Given the description of an element on the screen output the (x, y) to click on. 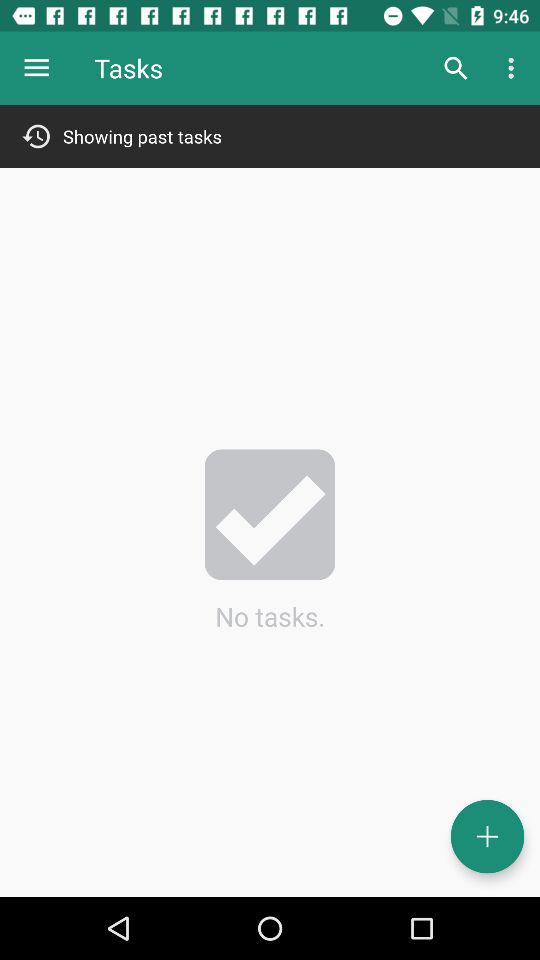
new task button (487, 836)
